Given the description of an element on the screen output the (x, y) to click on. 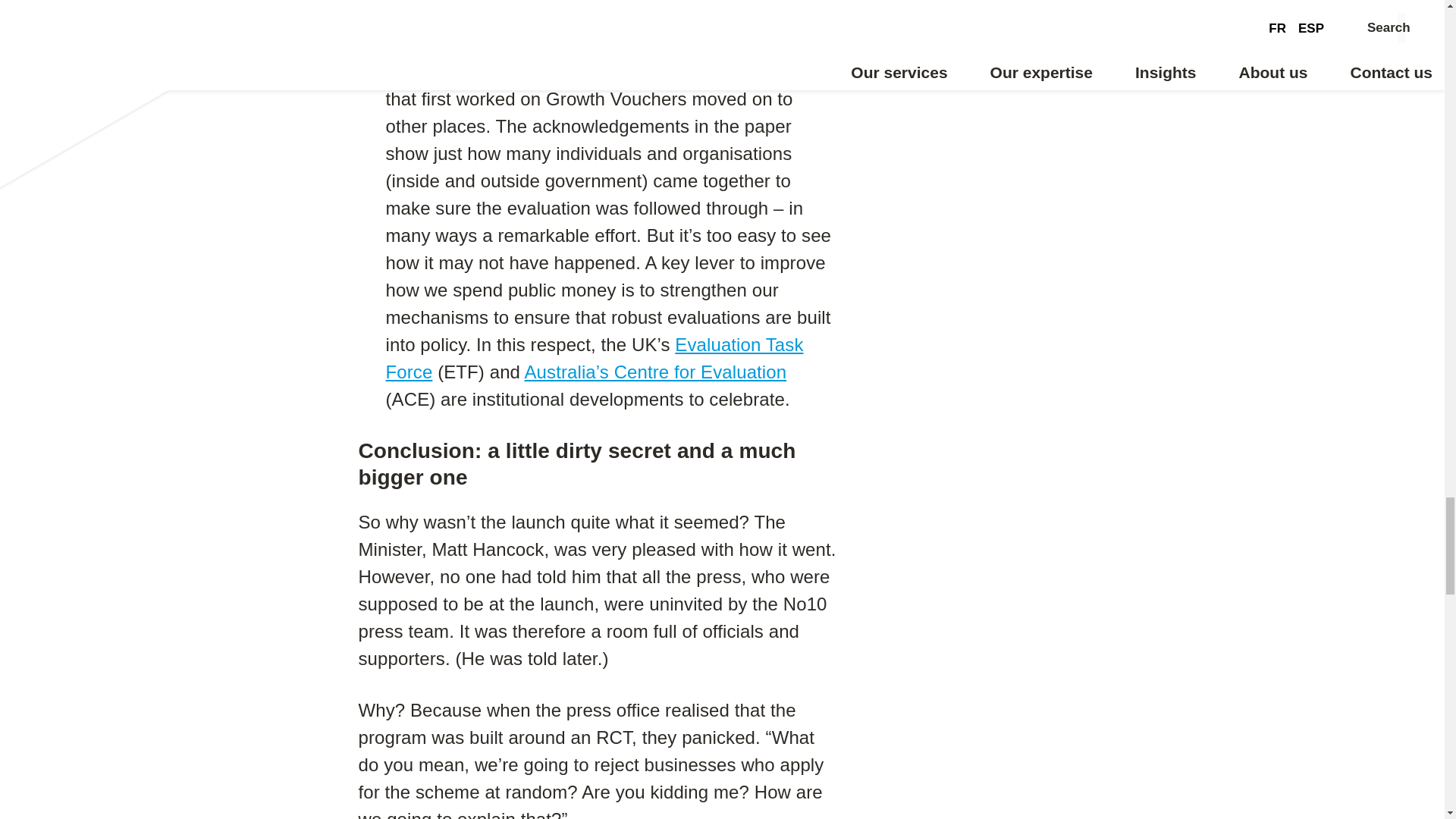
Evaluation Task Force (594, 358)
